Given the description of an element on the screen output the (x, y) to click on. 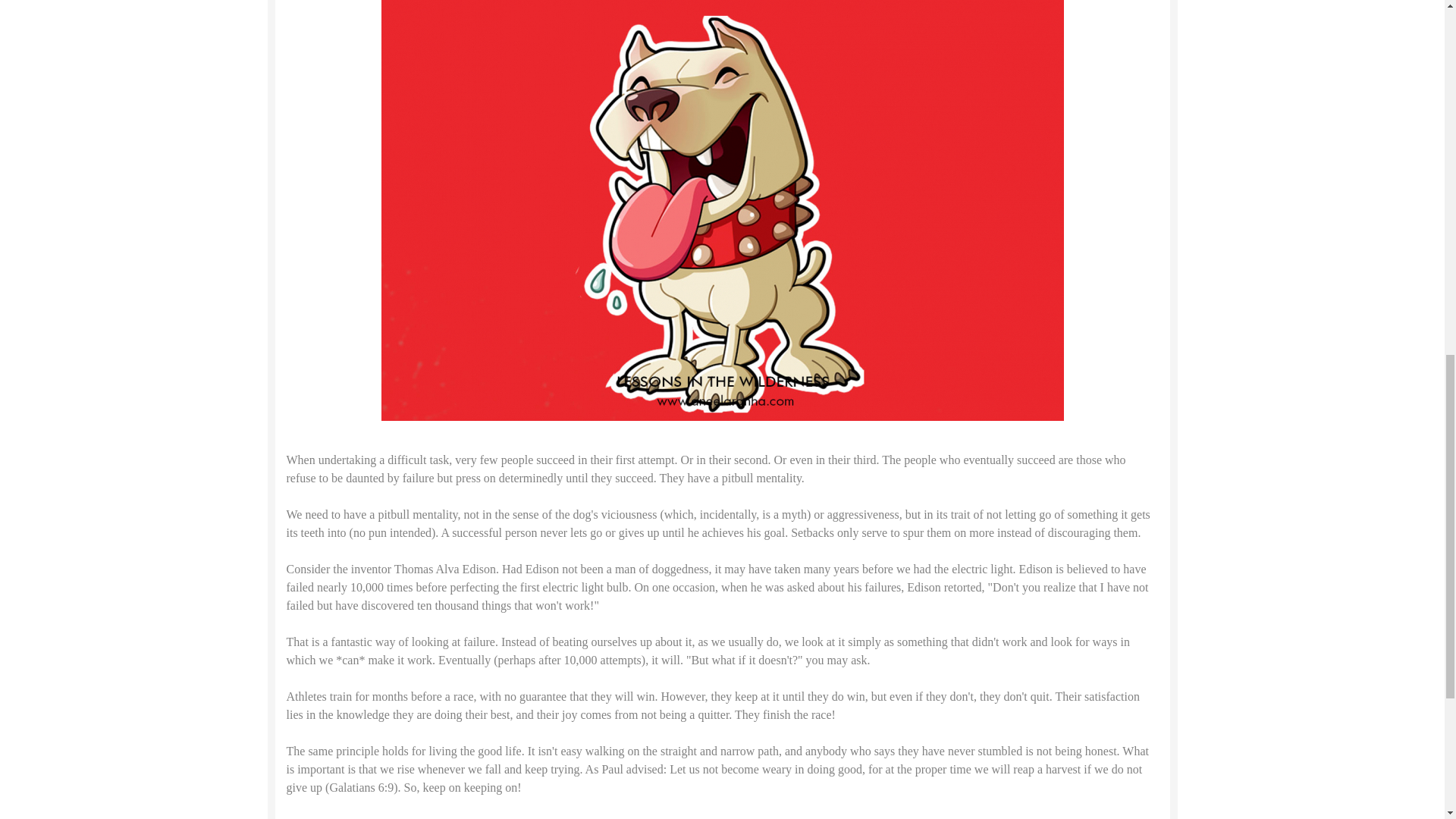
Click to preview image (721, 77)
